Given the description of an element on the screen output the (x, y) to click on. 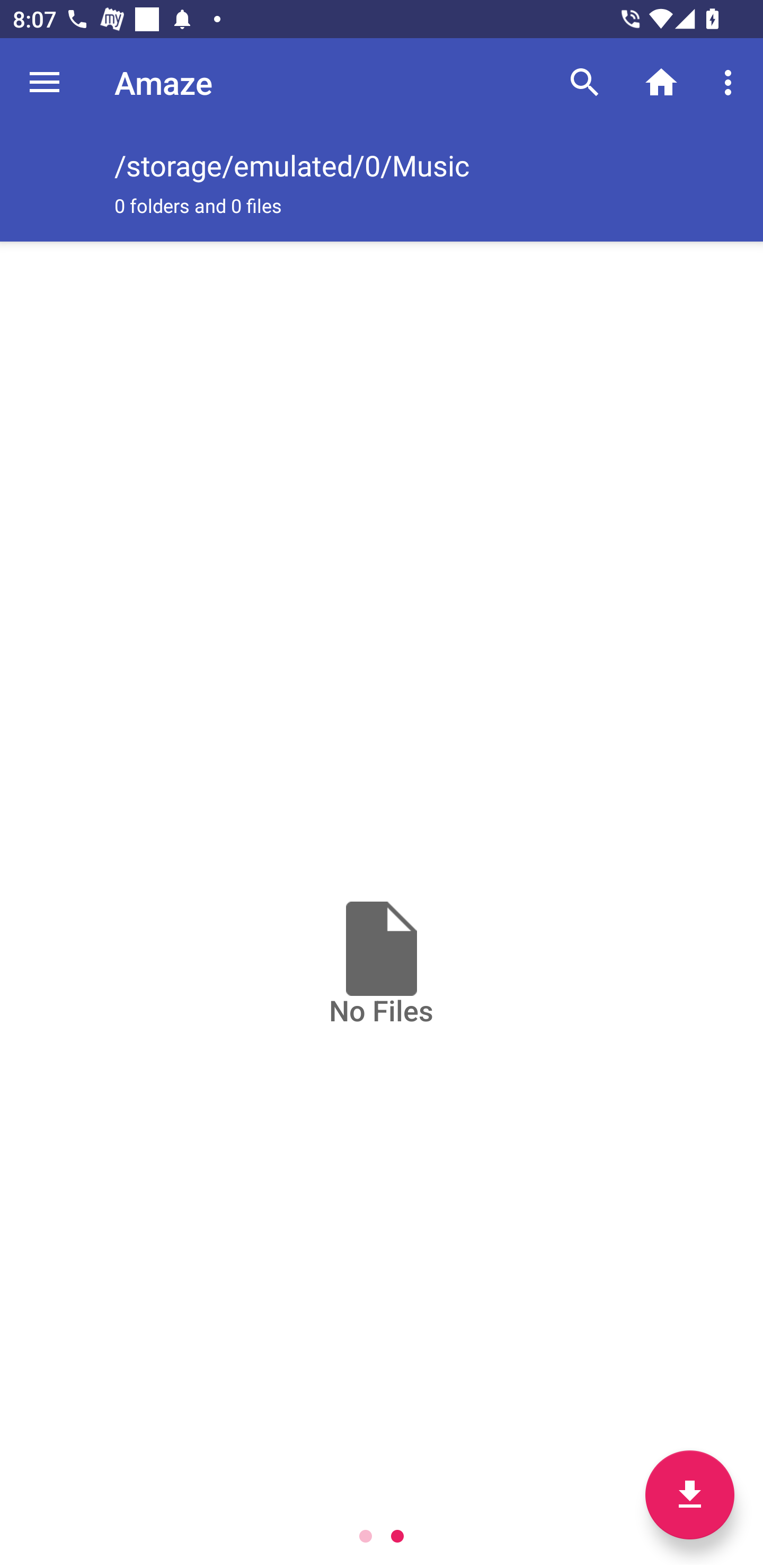
Navigate up (44, 82)
Search (585, 81)
Home (661, 81)
More options (731, 81)
